Given the description of an element on the screen output the (x, y) to click on. 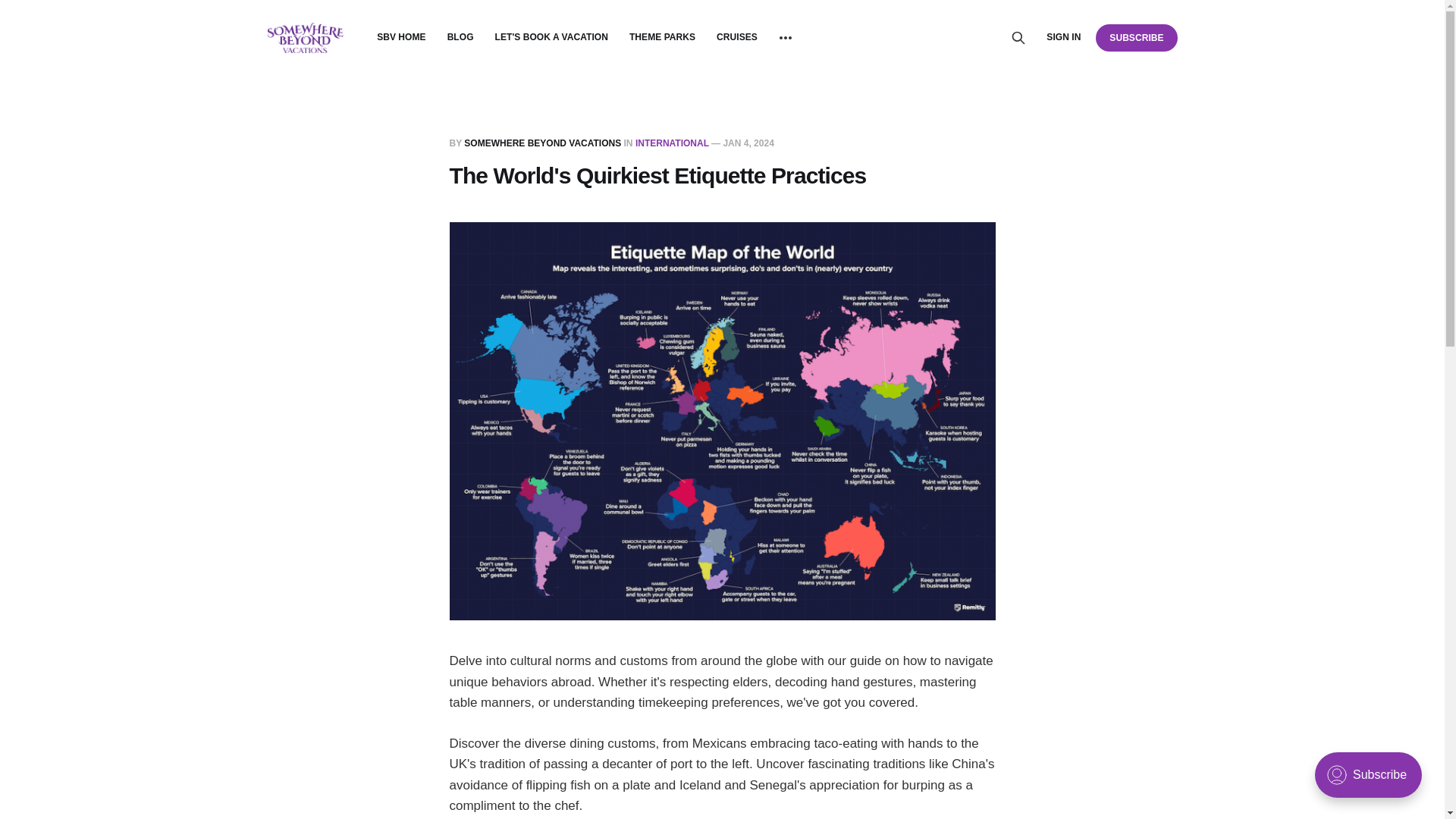
SUBSCRIBE (1136, 37)
SIGN IN (1063, 37)
THEME PARKS (661, 36)
INTERNATIONAL (671, 143)
CRUISES (736, 36)
BLOG (460, 36)
LET'S BOOK A VACATION (551, 36)
SBV HOME (401, 36)
SOMEWHERE BEYOND VACATIONS (542, 143)
